Given the description of an element on the screen output the (x, y) to click on. 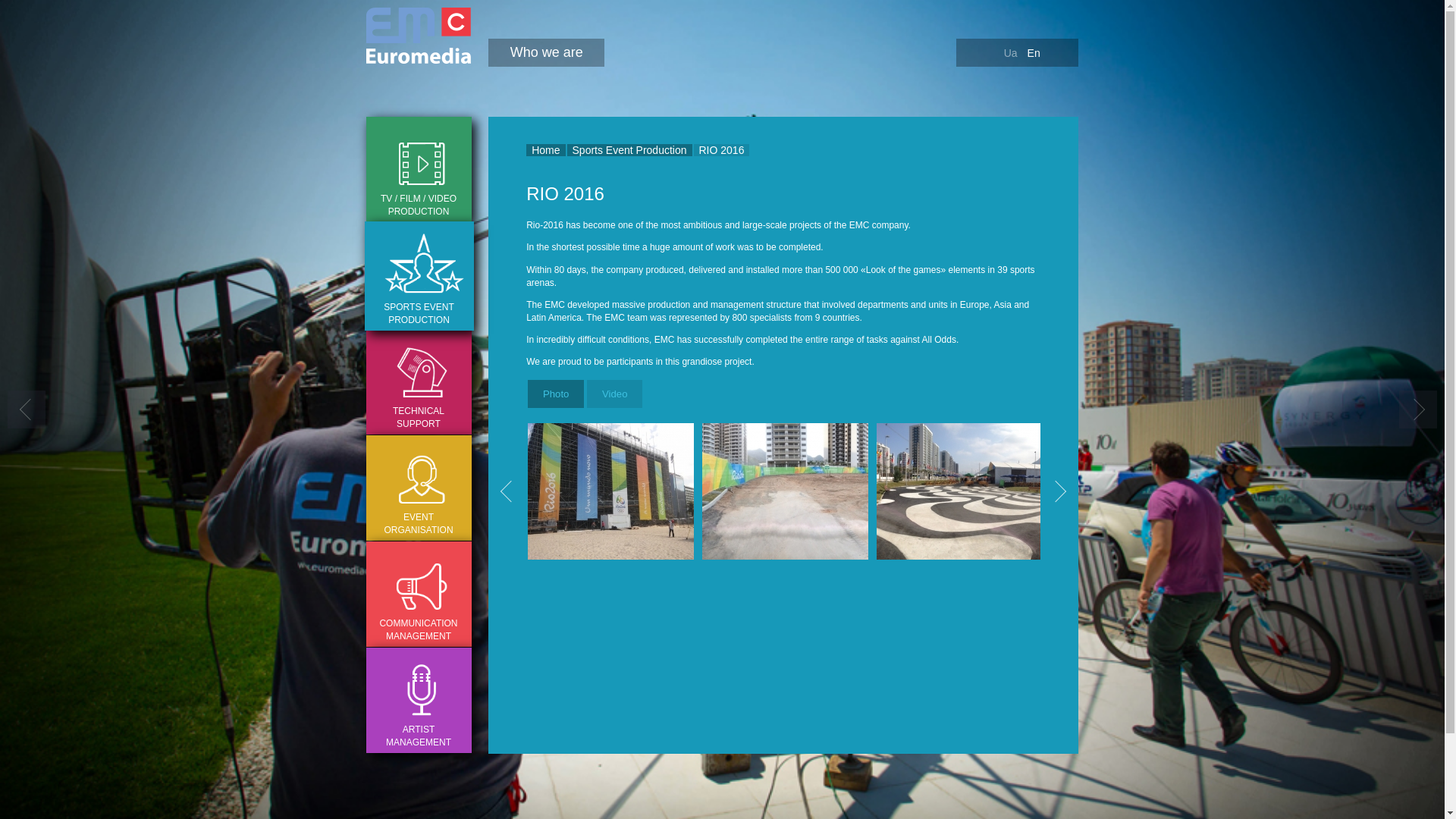
Who we are (545, 52)
TECHNICAL SUPPORT (417, 381)
Video (614, 393)
ARTIST MANAGEMENT (417, 699)
COMMUNICATION MANAGEMENT (417, 594)
Ua (1010, 52)
EVENT ORGANISATION (417, 487)
Sports Event Production (630, 150)
Home (544, 150)
En (1034, 52)
SPORTS EVENT PRODUCTION (418, 275)
Photo (555, 393)
